Given the description of an element on the screen output the (x, y) to click on. 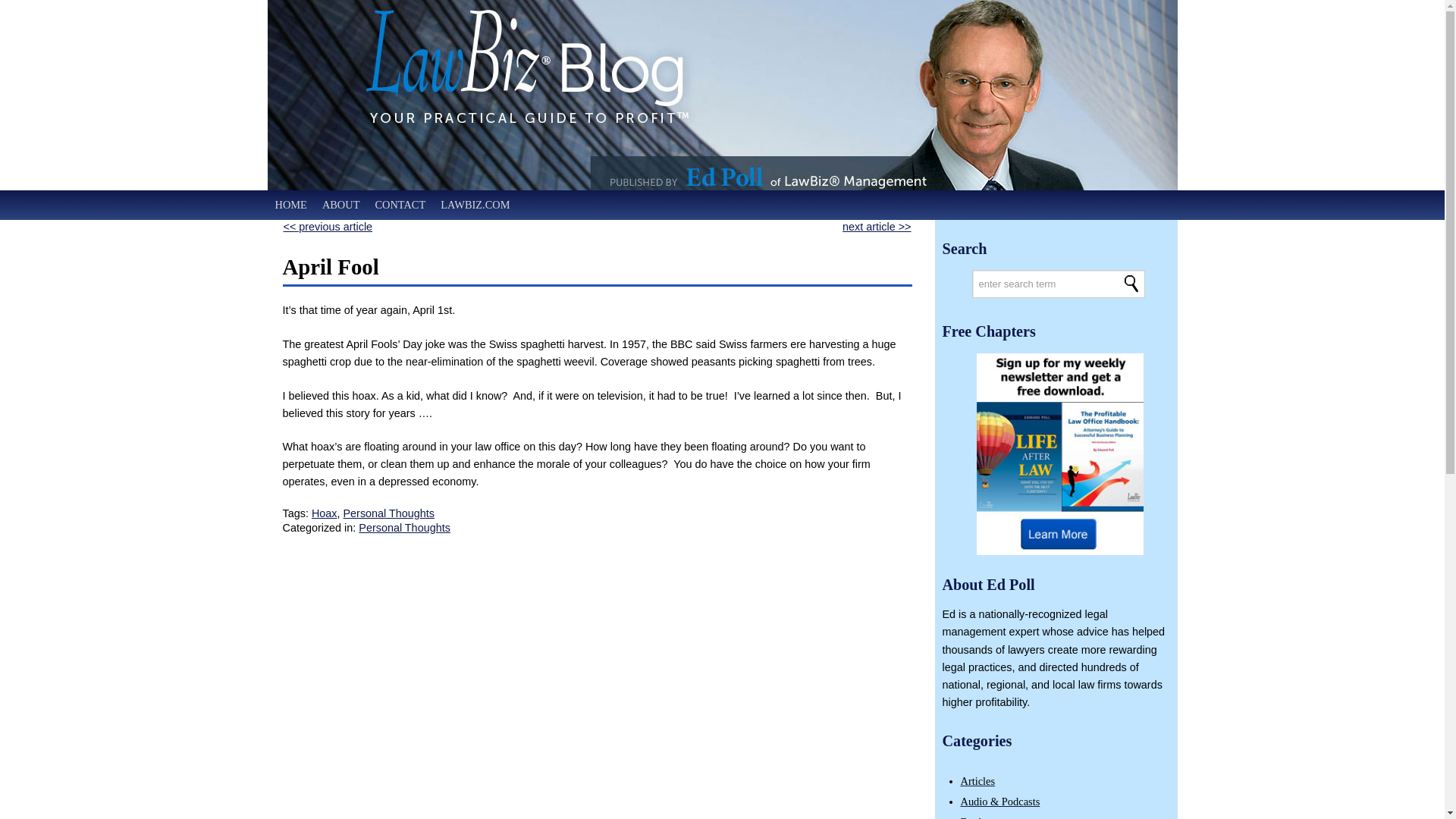
Personal Thoughts (403, 527)
HOME (290, 205)
LAWBIZ.COM (474, 205)
CONTACT (399, 205)
Enter search term (1058, 284)
Personal Thoughts (721, 205)
Search (389, 512)
Books (1132, 283)
Hoax (973, 817)
Search (324, 512)
Articles (1132, 283)
ABOUT (976, 780)
